Given the description of an element on the screen output the (x, y) to click on. 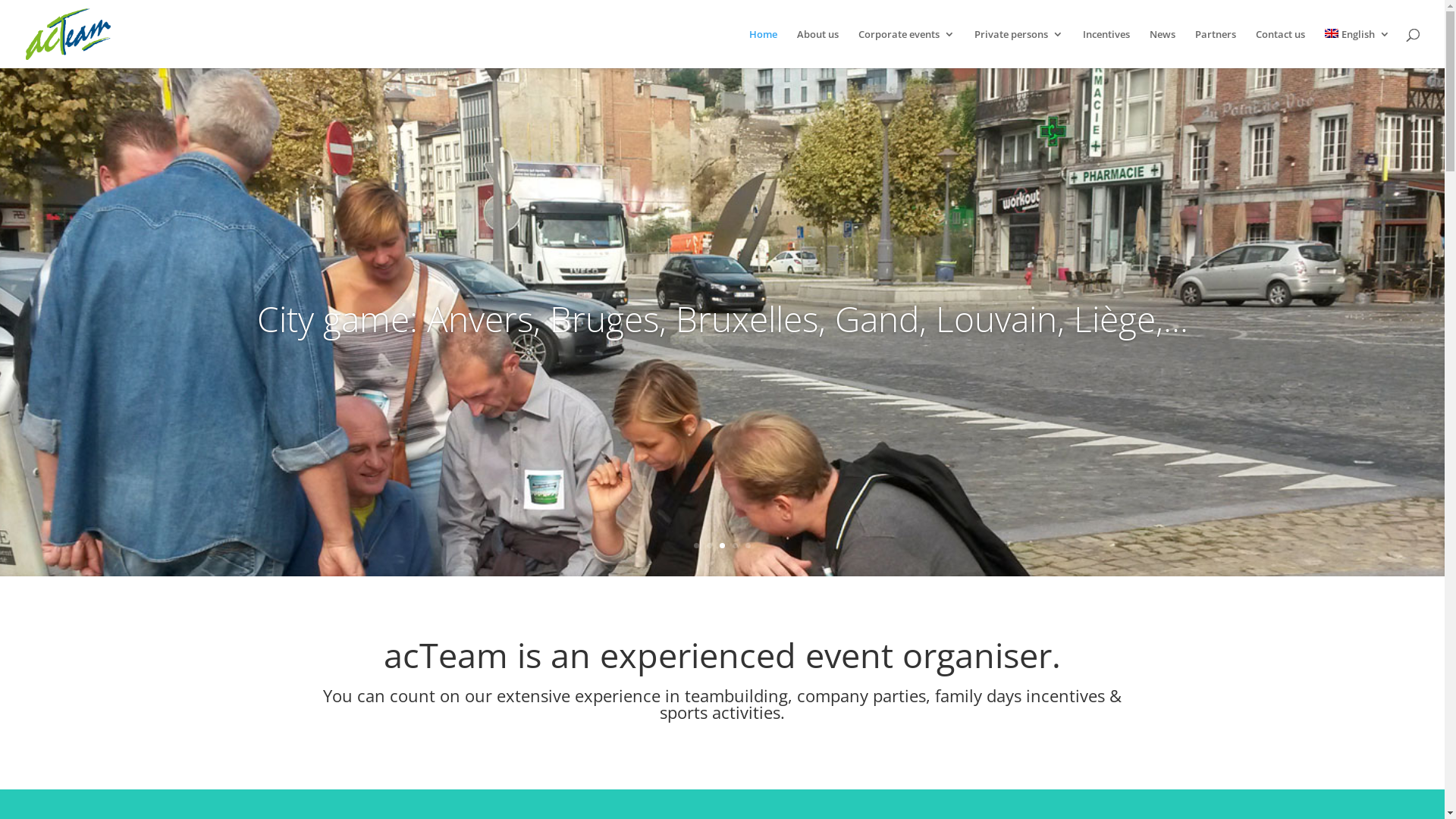
3 Element type: text (721, 545)
About us Element type: text (817, 48)
Private persons Element type: text (1018, 48)
News Element type: text (1162, 48)
Partners Element type: text (1215, 48)
5 Element type: text (747, 545)
4 Element type: text (734, 545)
Incentives Element type: text (1105, 48)
1 Element type: text (696, 545)
Contact us Element type: text (1280, 48)
2 Element type: text (709, 545)
English Element type: text (1357, 48)
Home Element type: text (763, 48)
Corporate events Element type: text (906, 48)
